Given the description of an element on the screen output the (x, y) to click on. 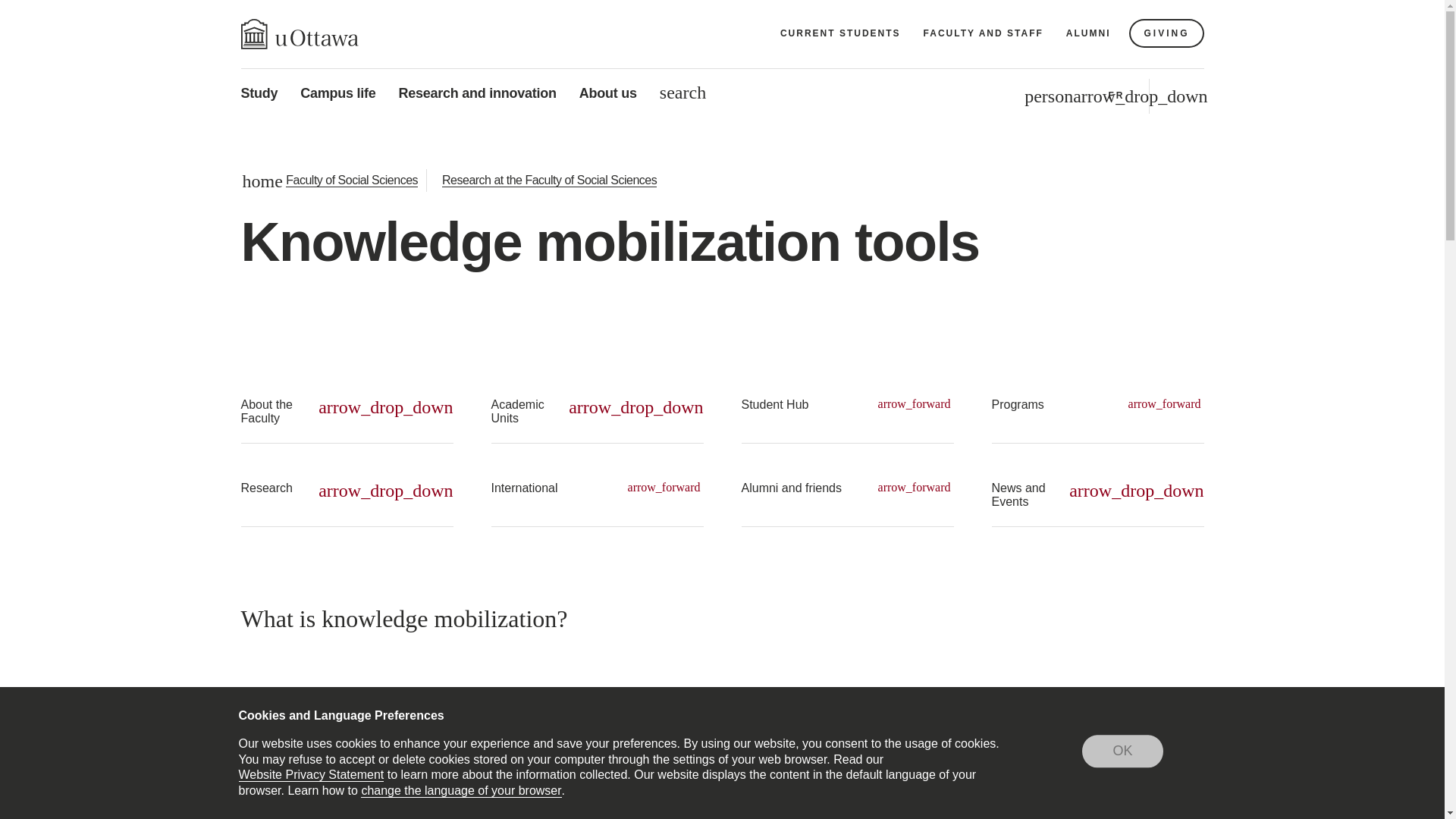
Campus life (337, 92)
FACULTY AND STAFF (983, 33)
Research and innovation (477, 92)
GIVING (1166, 32)
About us (608, 92)
CURRENT STUDENTS (840, 33)
search (682, 92)
external link (656, 812)
FR (1114, 95)
home Faculty of Social Sciences (331, 180)
ALUMNI (1088, 33)
Research at the Faculty of Social Sciences (549, 180)
